Given the description of an element on the screen output the (x, y) to click on. 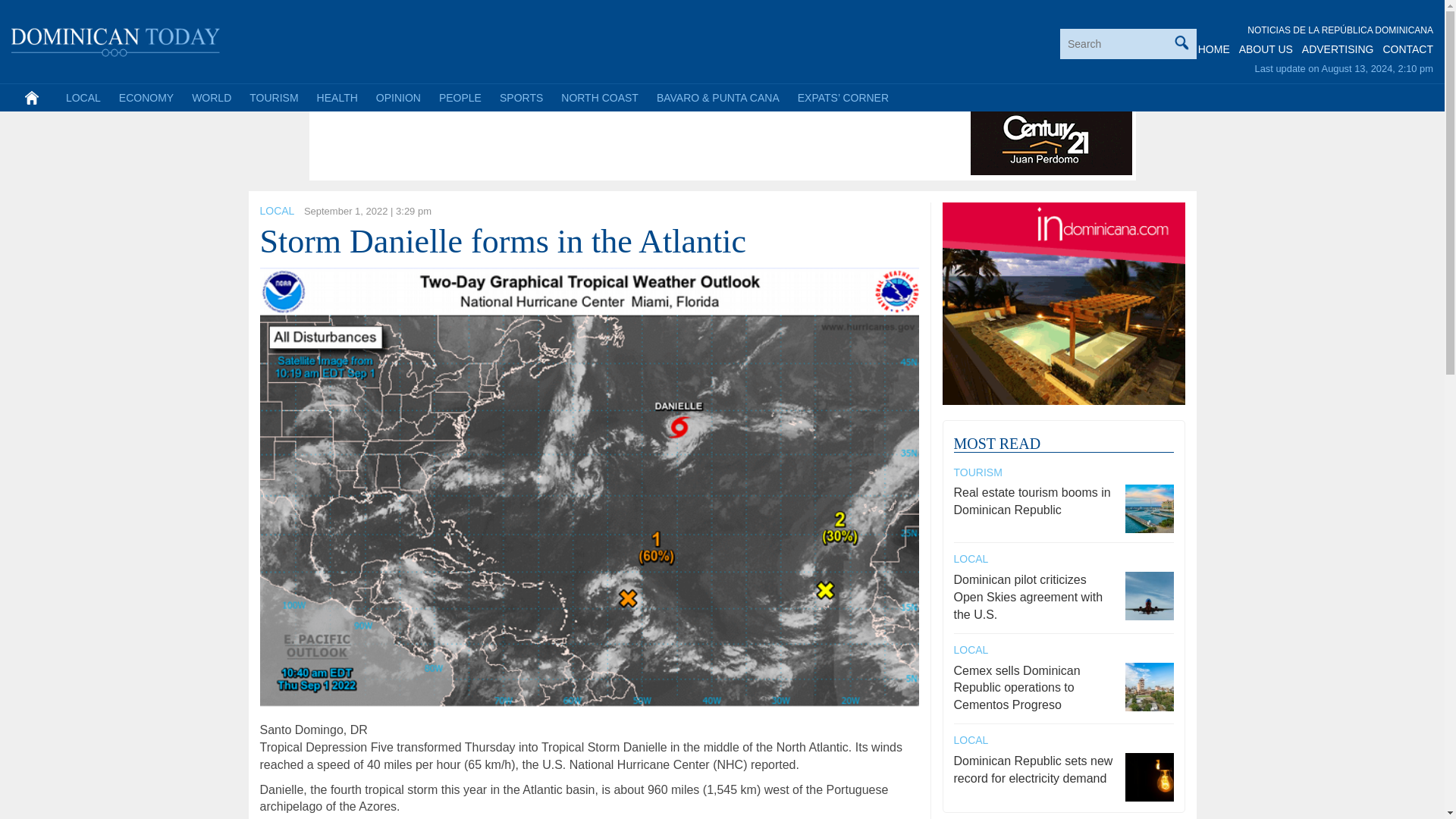
PEOPLE (459, 97)
OPINION (397, 97)
HEALTH (336, 97)
WORLD (211, 97)
LOCAL (276, 210)
LOCAL (83, 97)
ABOUT US (1265, 49)
TOURISM (273, 97)
Advertisement (589, 141)
